Given the description of an element on the screen output the (x, y) to click on. 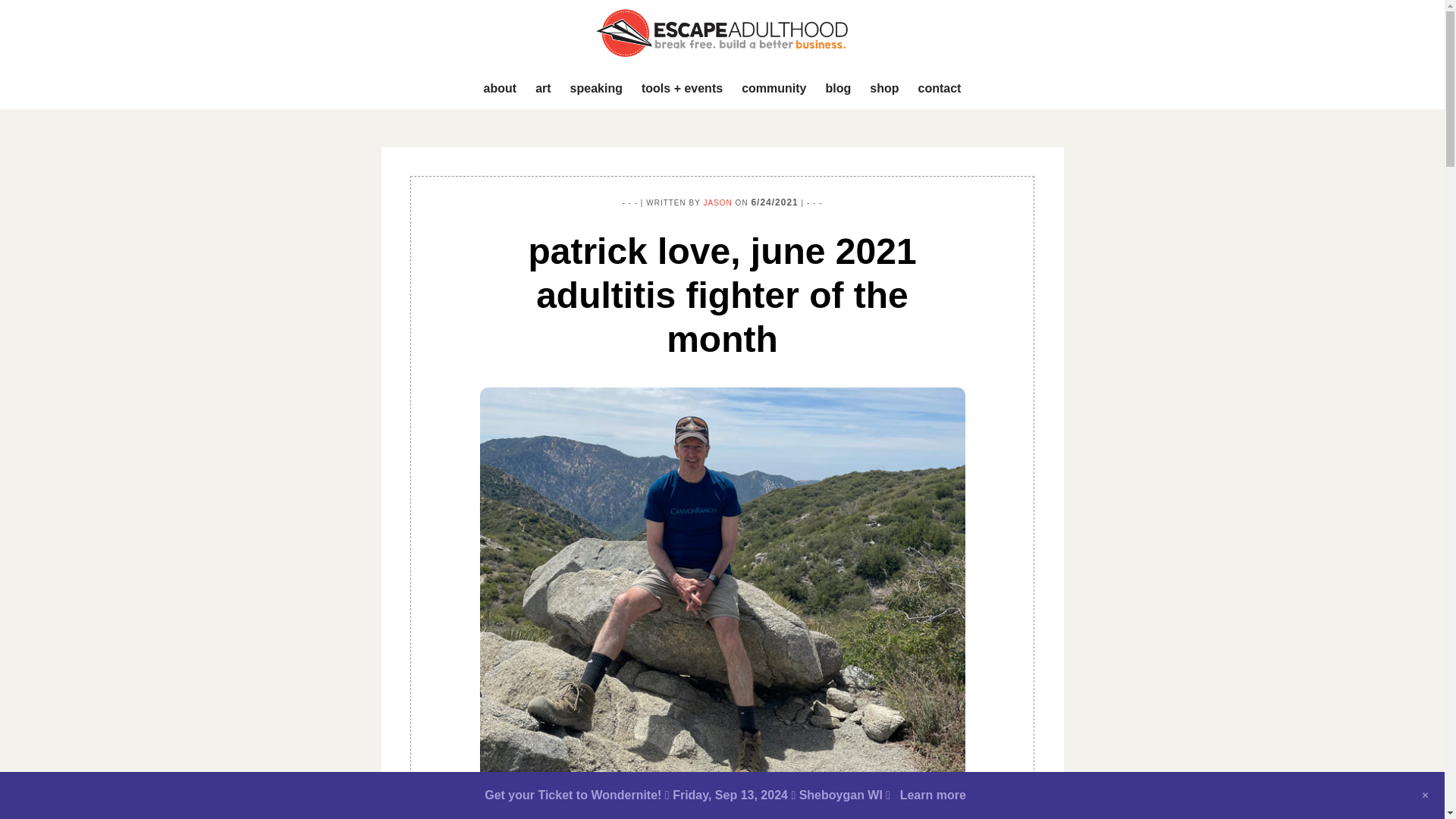
community (773, 88)
about (500, 88)
ESCAPE ADULTHOOD (721, 32)
speaking (596, 88)
art (542, 88)
